Given the description of an element on the screen output the (x, y) to click on. 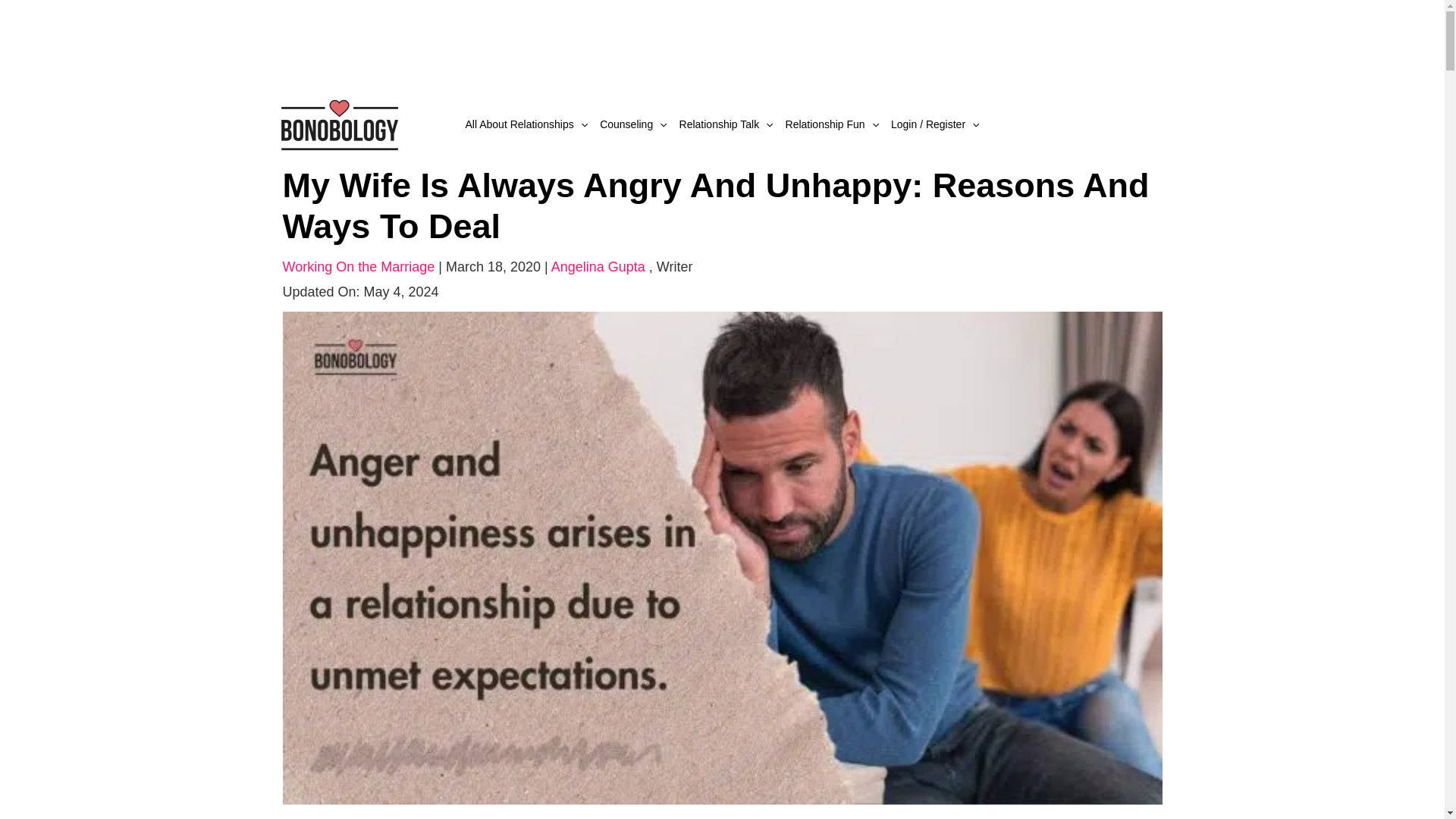
Editor Info (674, 266)
All About Relationships (527, 124)
my wife is always angry and unhappy (721, 557)
cropped-cropped-Bonobology-2.png (339, 123)
